Given the description of an element on the screen output the (x, y) to click on. 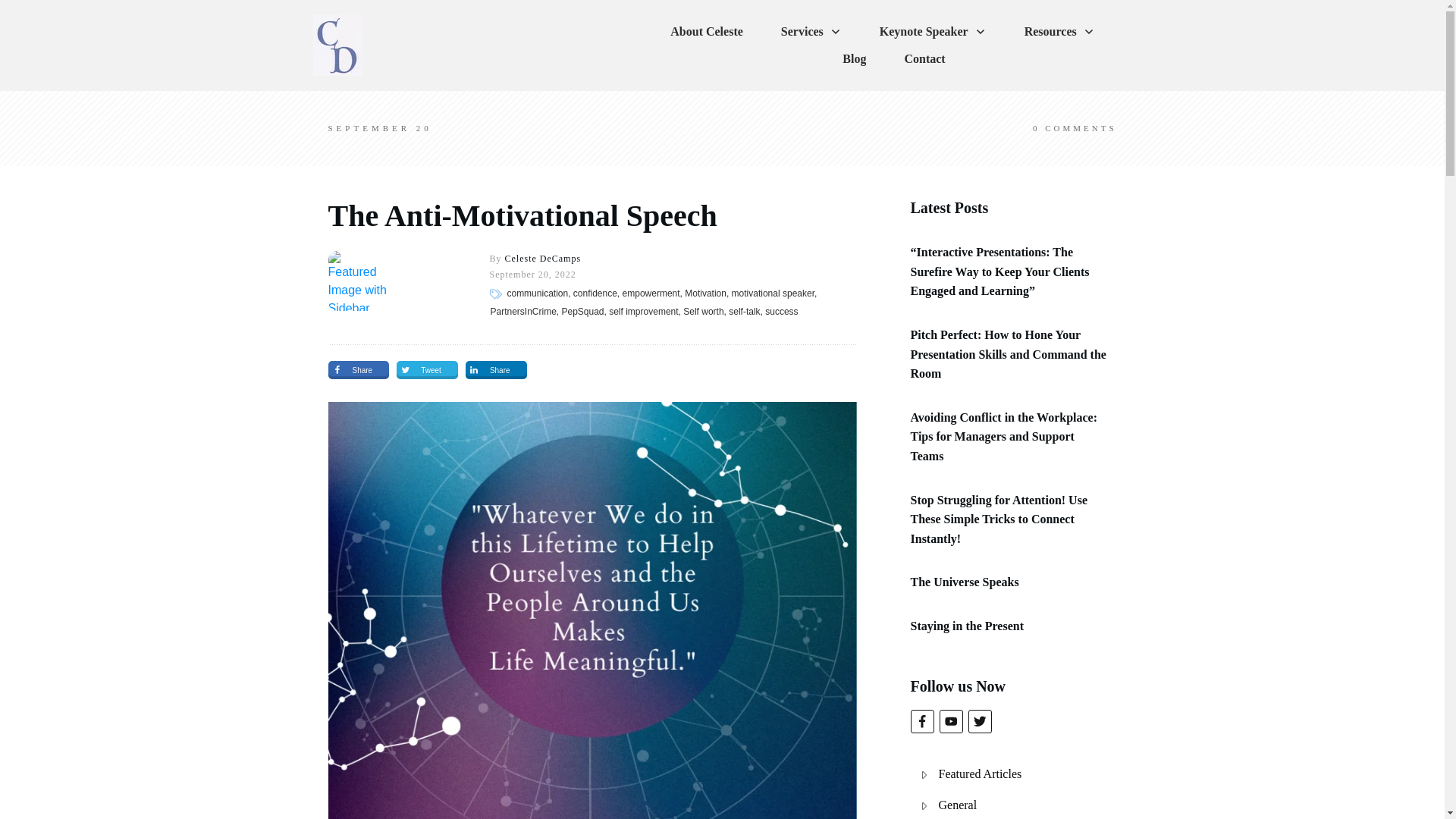
Resources (1059, 31)
Featured Image with Sidebar (357, 280)
General (957, 805)
Blog (854, 58)
Staying in the Present (966, 625)
The Universe Speaks (963, 581)
The Anti-Motivational Speech (521, 215)
